Given the description of an element on the screen output the (x, y) to click on. 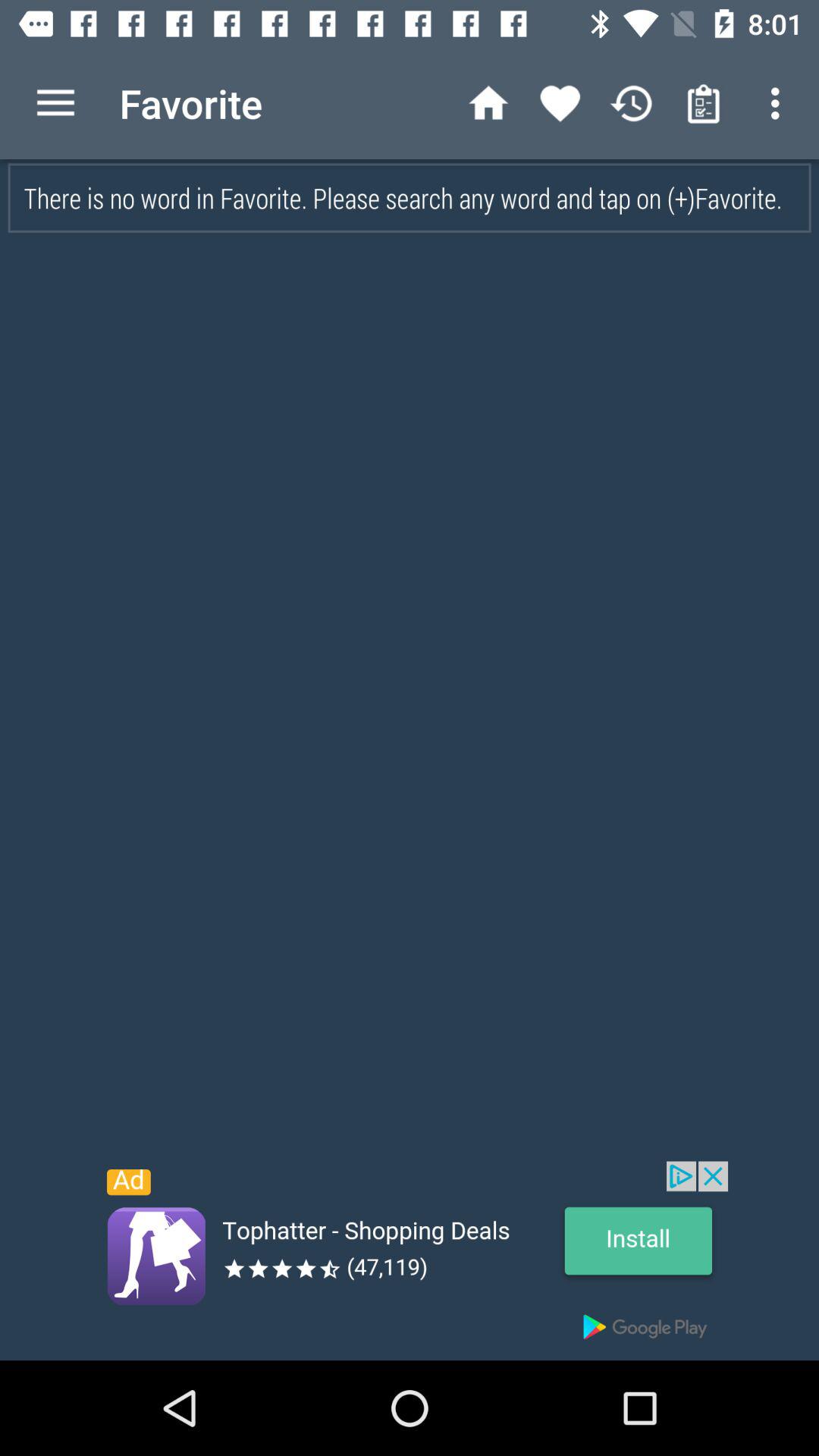
advertisement link to different site (409, 1260)
